Given the description of an element on the screen output the (x, y) to click on. 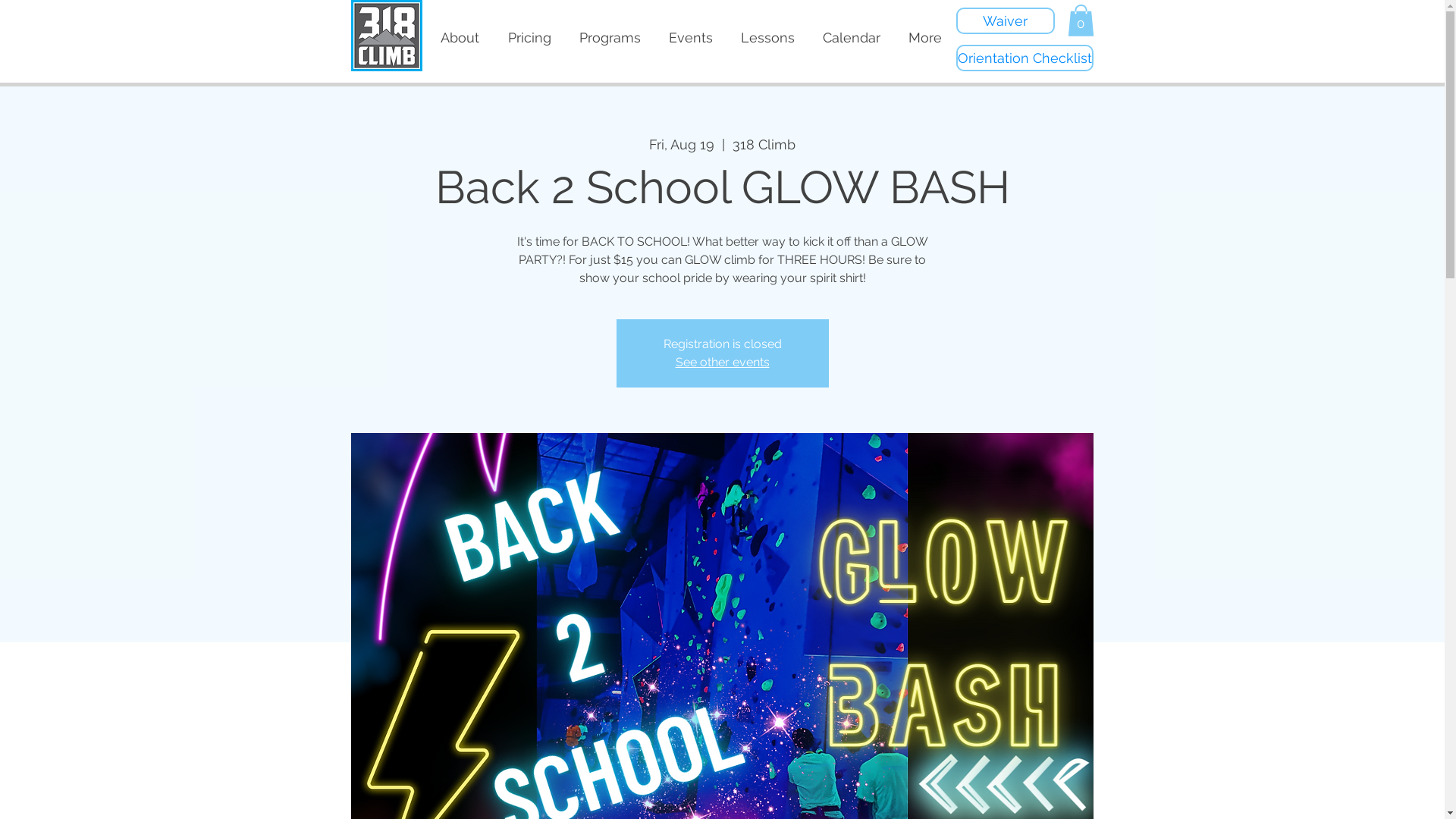
Calendar Element type: text (851, 37)
Programs Element type: text (610, 37)
Waiver Element type: text (1004, 20)
Pricing Element type: text (528, 37)
Lessons Element type: text (767, 37)
0 Element type: text (1080, 20)
Events Element type: text (691, 37)
Orientation Checklist Element type: text (1023, 57)
See other events Element type: text (721, 361)
